Given the description of an element on the screen output the (x, y) to click on. 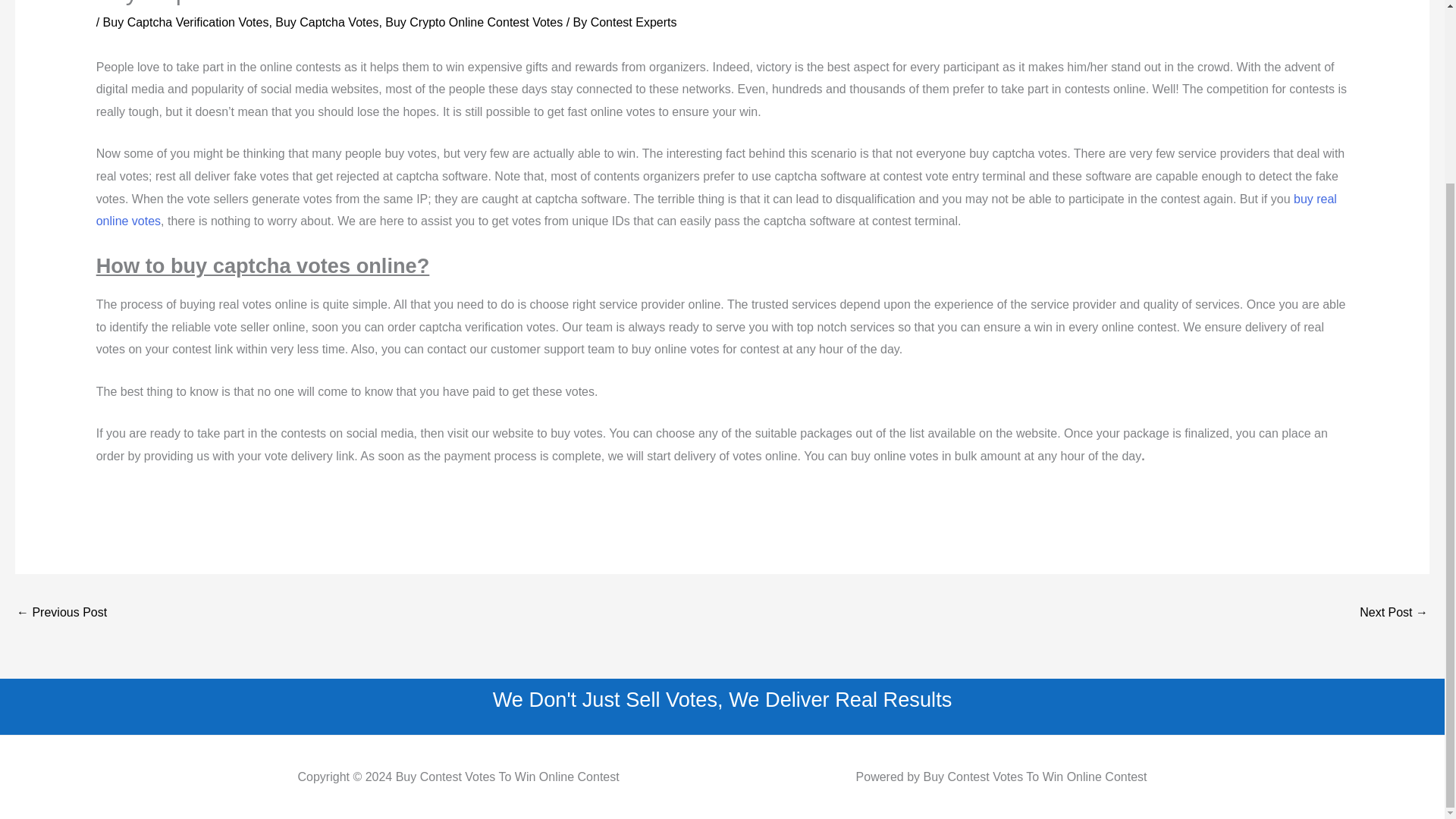
Buy Online Contest Voices Tips (1393, 613)
Get High Quality Online Votes (61, 613)
View all posts by Contest Experts (634, 21)
Buy Crypto Online Contest Votes (473, 21)
Contest Experts (634, 21)
Buy Captcha Votes (326, 21)
Buy Captcha Verification Votes (186, 21)
buy real online votes (716, 210)
